Given the description of an element on the screen output the (x, y) to click on. 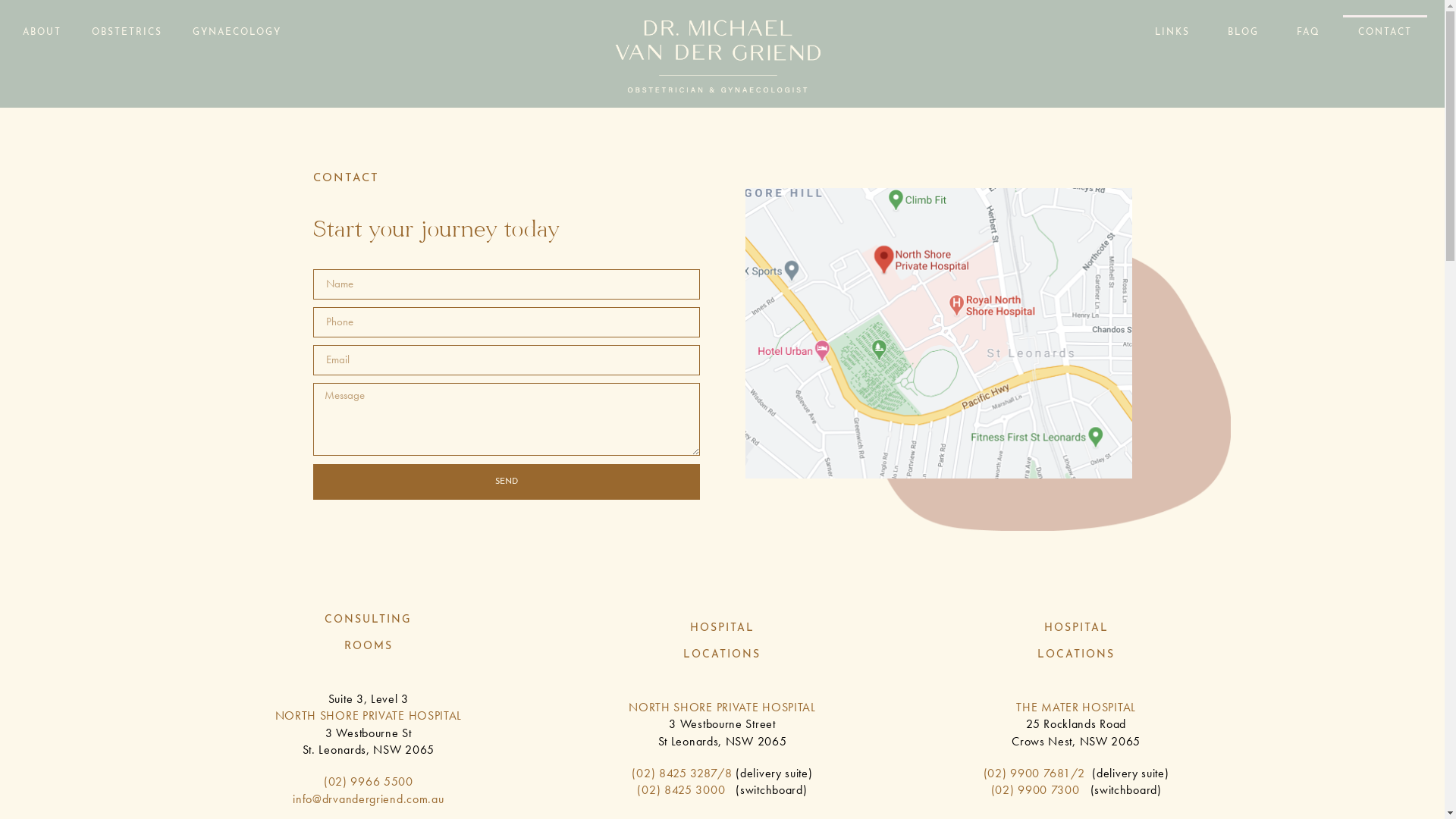
NORTH SHORE PRIVATE HOSPITAL Element type: text (721, 707)
LINKS Element type: text (1171, 32)
(02) 8425 3000 Element type: text (680, 789)
CONTACT Element type: text (1385, 32)
   Element type: text (727, 789)
NORTH SHORE PRIVATE HOSPITAL Element type: text (368, 715)
HOSPITAL
LOCATIONS Element type: text (721, 641)
SEND Element type: text (505, 481)
OBSTETRICS Element type: text (126, 32)
GYNAECOLOGY Element type: text (236, 32)
(02) 9966 5500 Element type: text (368, 781)
THE MATER HOSPITAL Element type: text (1075, 707)
  Element type: text (688, 773)
(02) 9900 7300    Element type: text (1040, 789)
3287/8 Element type: text (710, 773)
HOSPITAL
LOCATIONS Element type: text (1075, 641)
FAQ Element type: text (1308, 32)
ABOUT Element type: text (41, 32)
BLOG Element type: text (1243, 32)
(02) 9900 7681/2 Element type: text (1034, 773)
(02) 8425 Element type: text (658, 773)
info@drvandergriend.com.au Element type: text (367, 798)
